Given the description of an element on the screen output the (x, y) to click on. 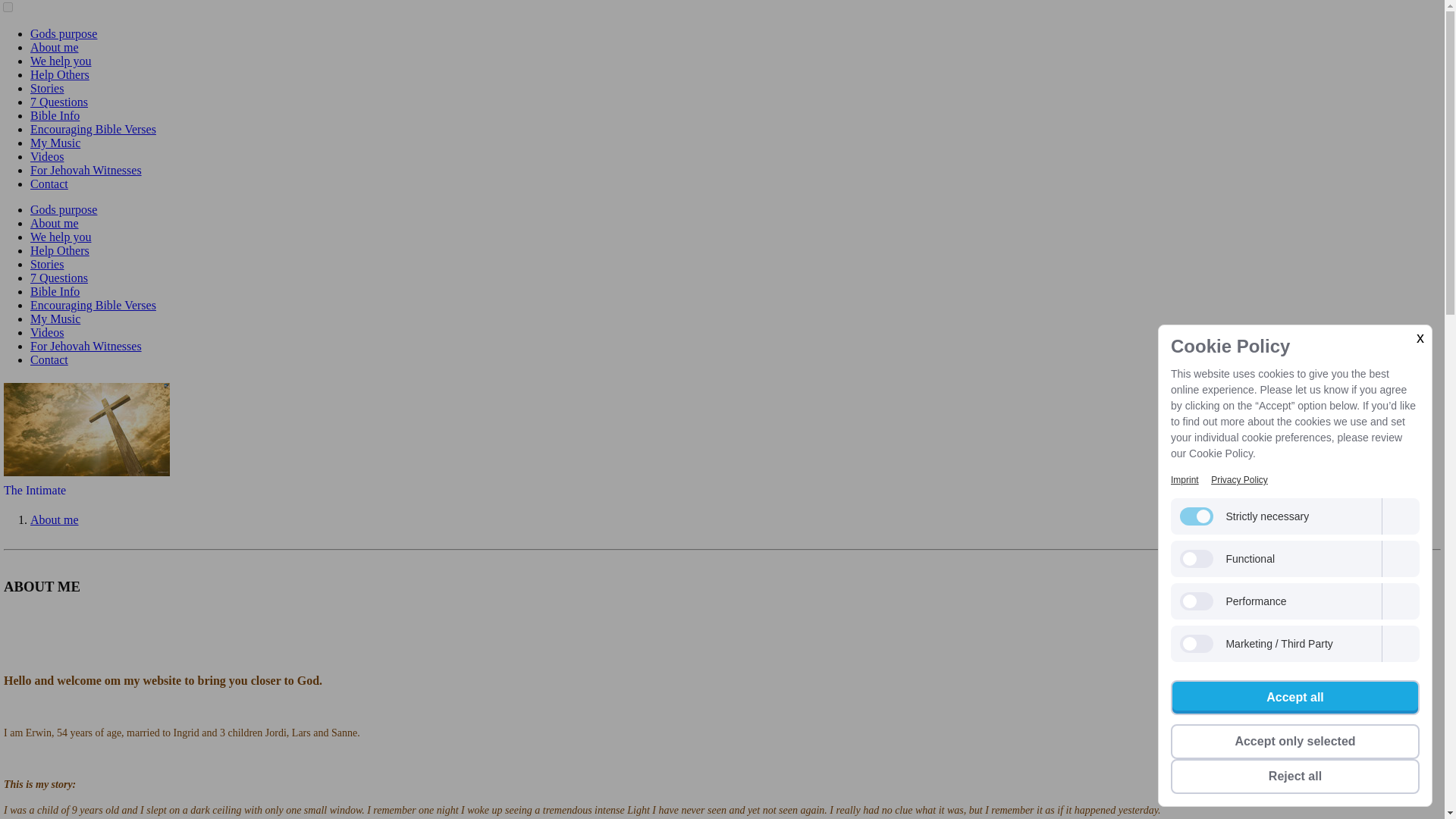
About me (54, 47)
Gods purpose (63, 33)
Help Others (59, 74)
Contact (49, 183)
7 Questions (58, 277)
Gods purpose (63, 209)
For Jehovah Witnesses (85, 345)
Videos (47, 155)
Help Others (59, 250)
Encouraging Bible Verses (92, 305)
